Given the description of an element on the screen output the (x, y) to click on. 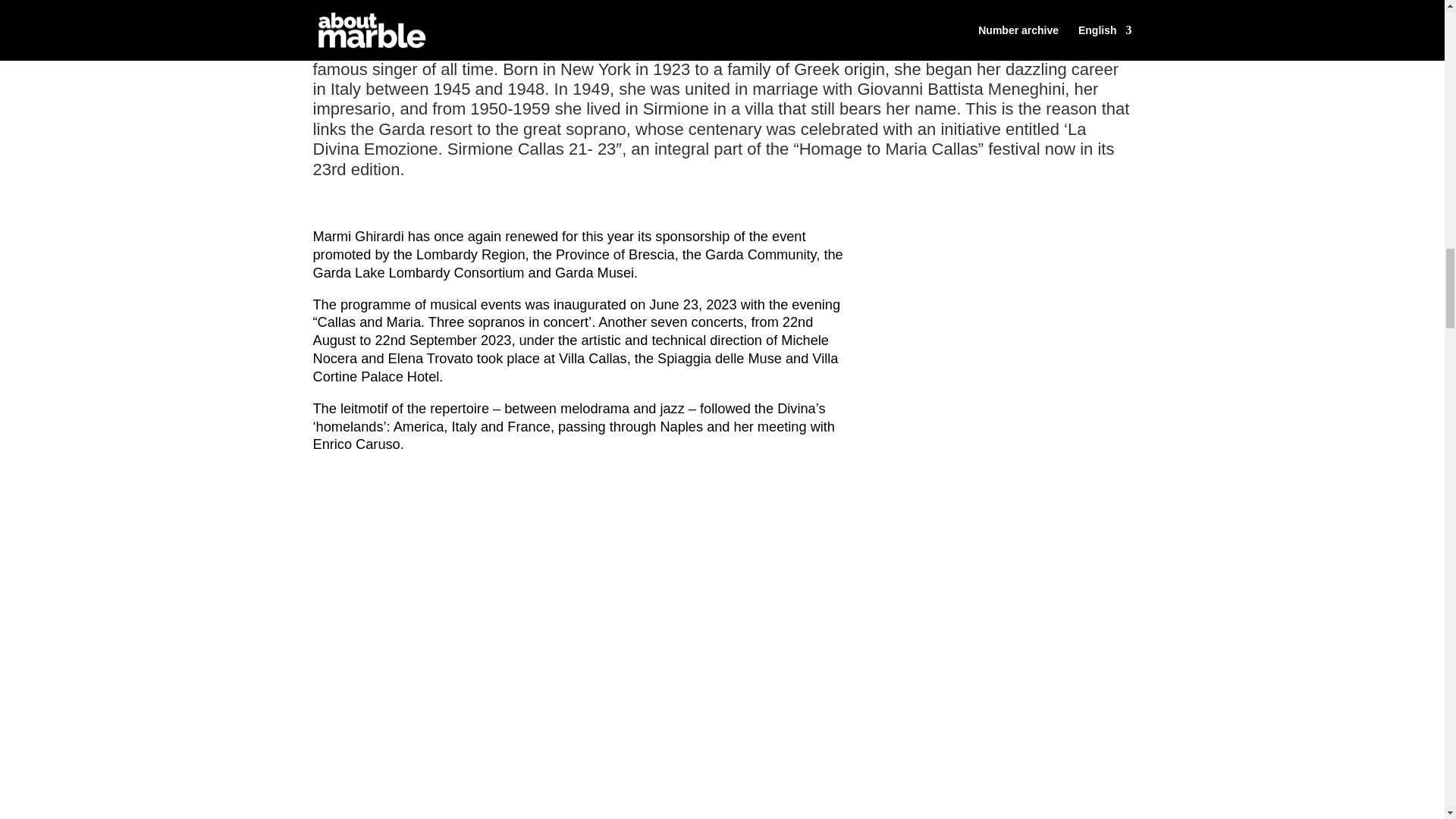
MariaCallas (1009, 349)
